Given the description of an element on the screen output the (x, y) to click on. 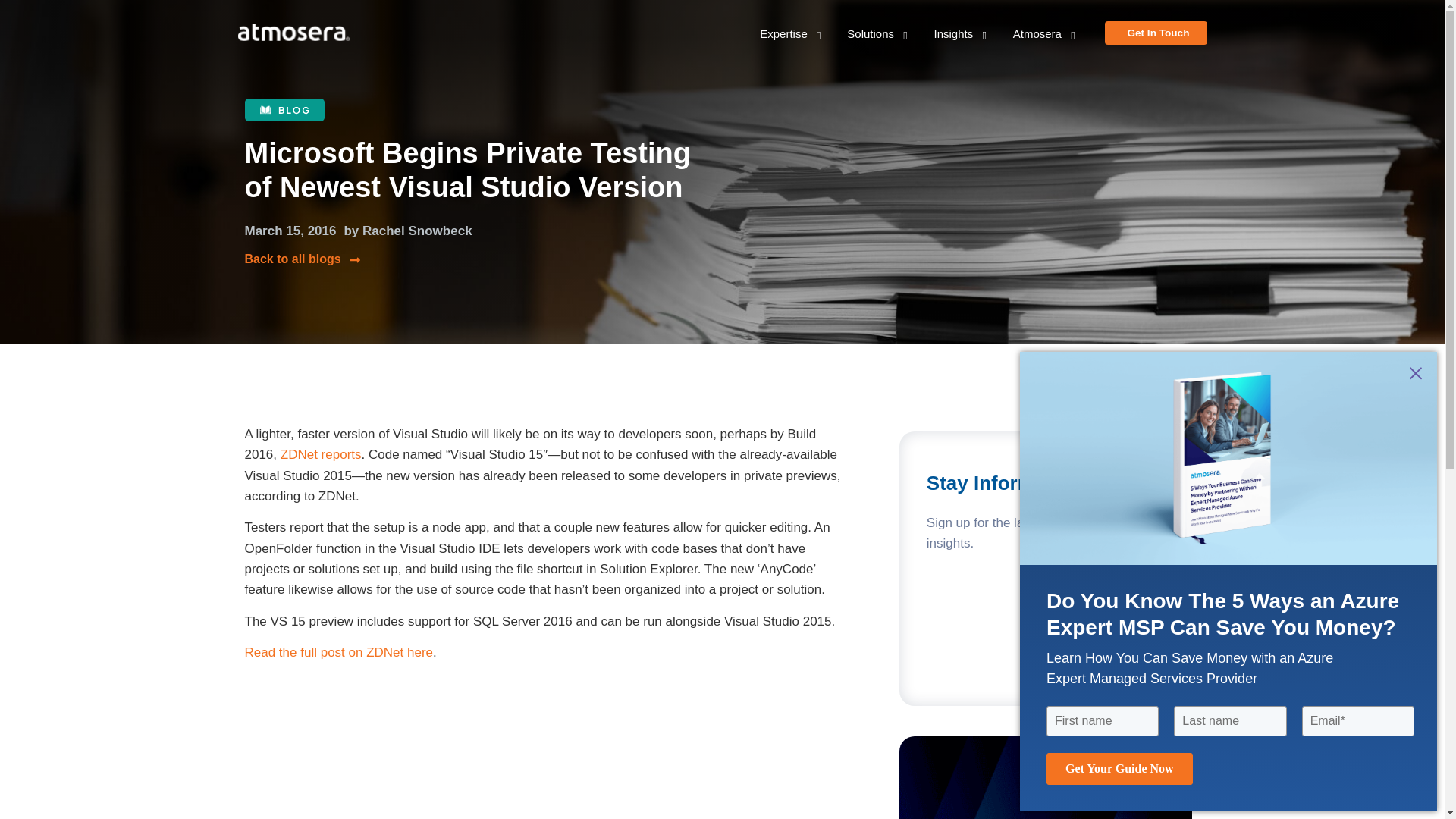
Expertise (784, 33)
logo white (292, 34)
Form 0 (1046, 628)
